Given the description of an element on the screen output the (x, y) to click on. 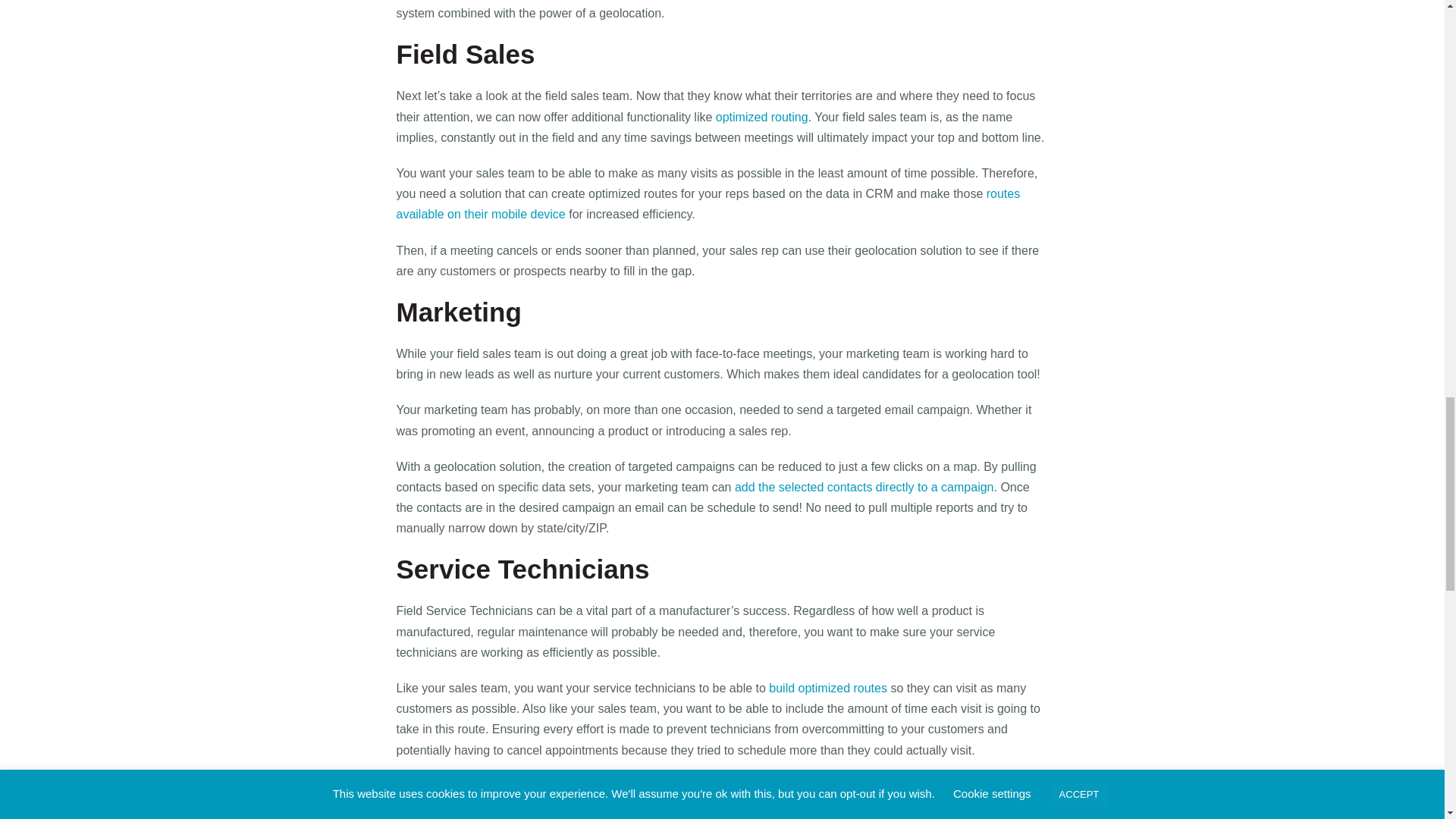
routes available on their mobile device (708, 203)
optimized routing (762, 116)
